Given the description of an element on the screen output the (x, y) to click on. 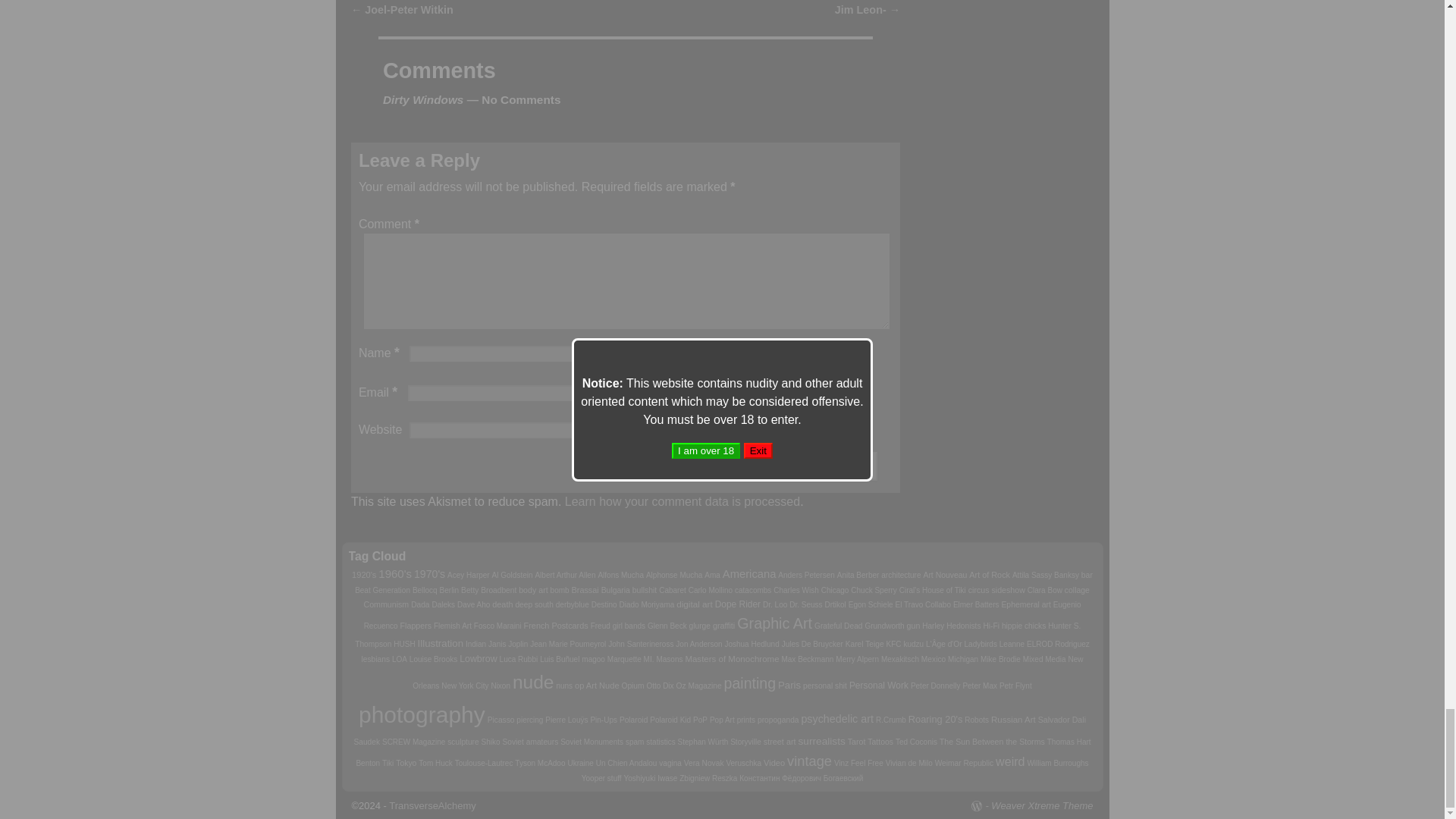
20 topics (429, 573)
1 topic (564, 574)
24 topics (395, 573)
1 topic (619, 574)
Post Comment (799, 466)
1 topic (512, 574)
6 topics (363, 574)
1 topic (467, 574)
